Given the description of an element on the screen output the (x, y) to click on. 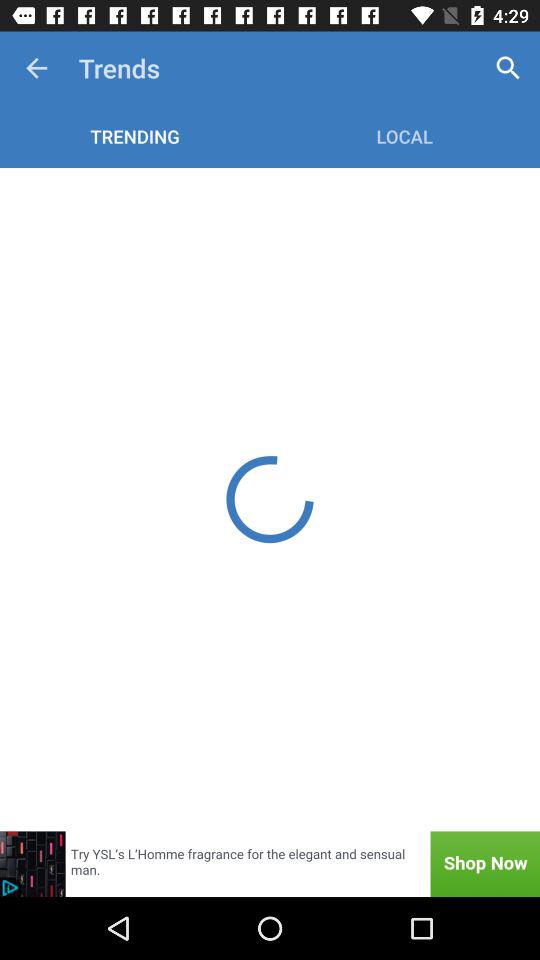
advertisement option (270, 864)
